Given the description of an element on the screen output the (x, y) to click on. 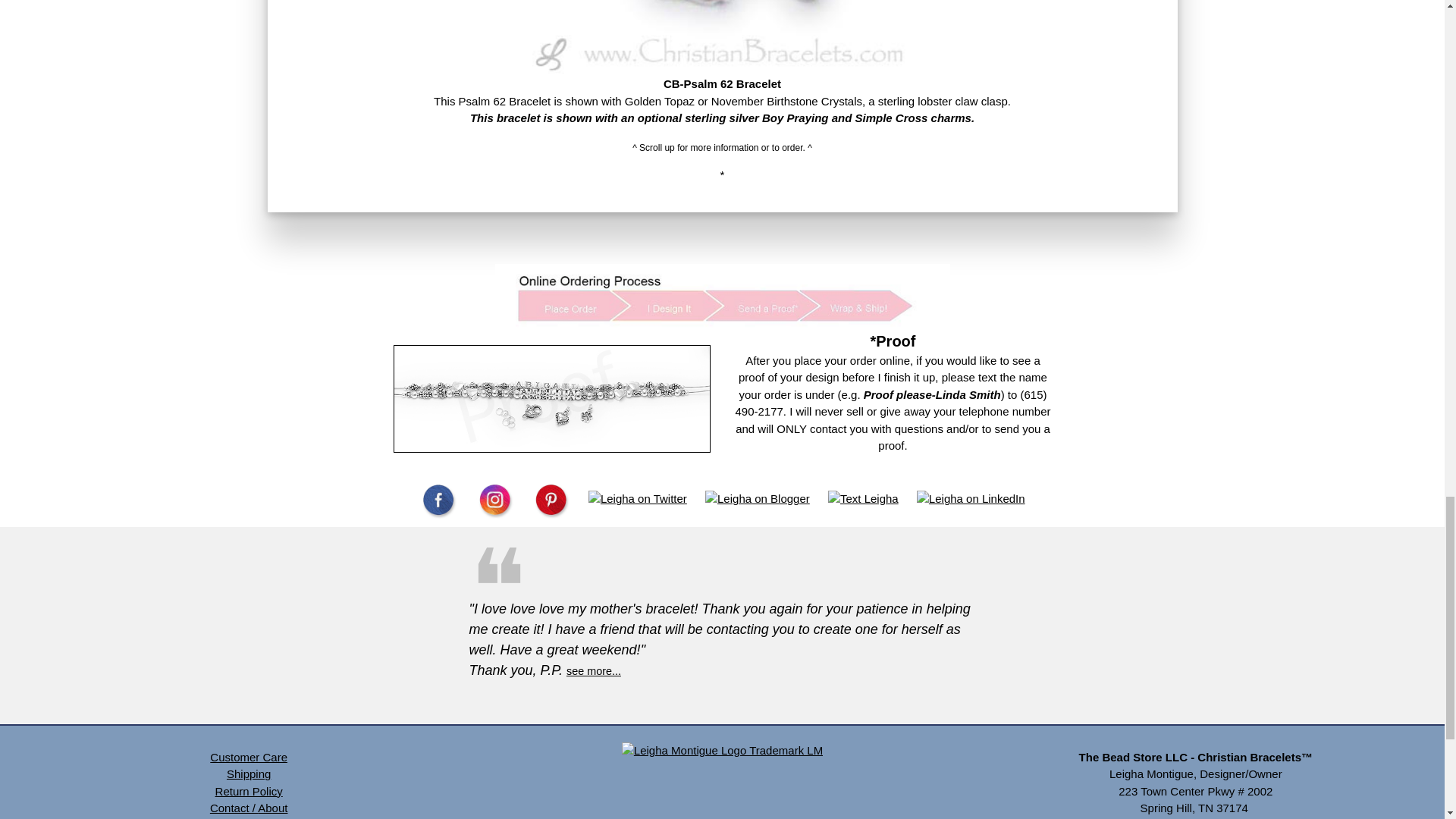
Return Policy (248, 790)
Customer Care (247, 757)
Shipping (248, 773)
About (271, 807)
see more... (593, 670)
